Given the description of an element on the screen output the (x, y) to click on. 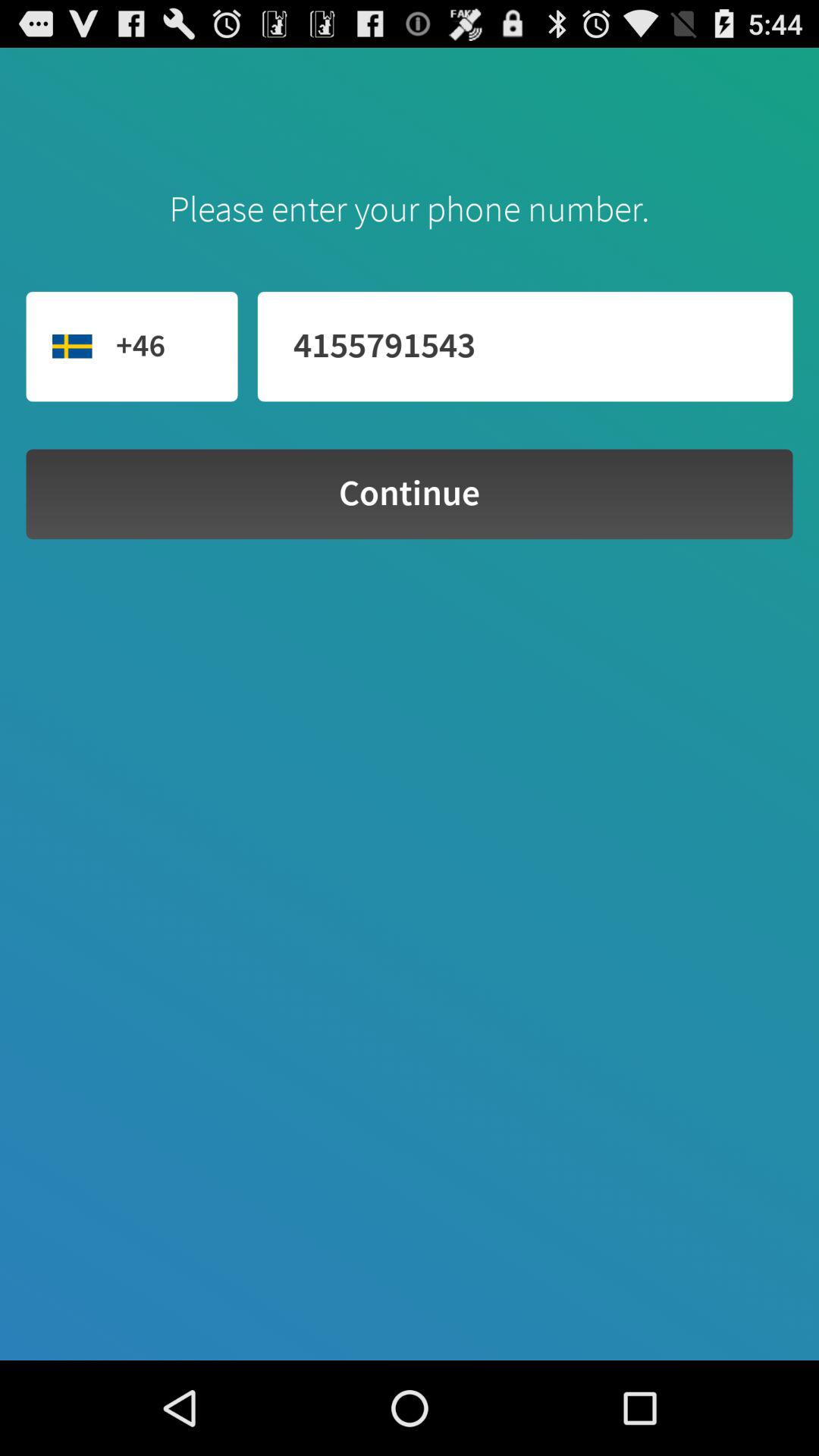
turn off icon next to +46 icon (524, 346)
